Given the description of an element on the screen output the (x, y) to click on. 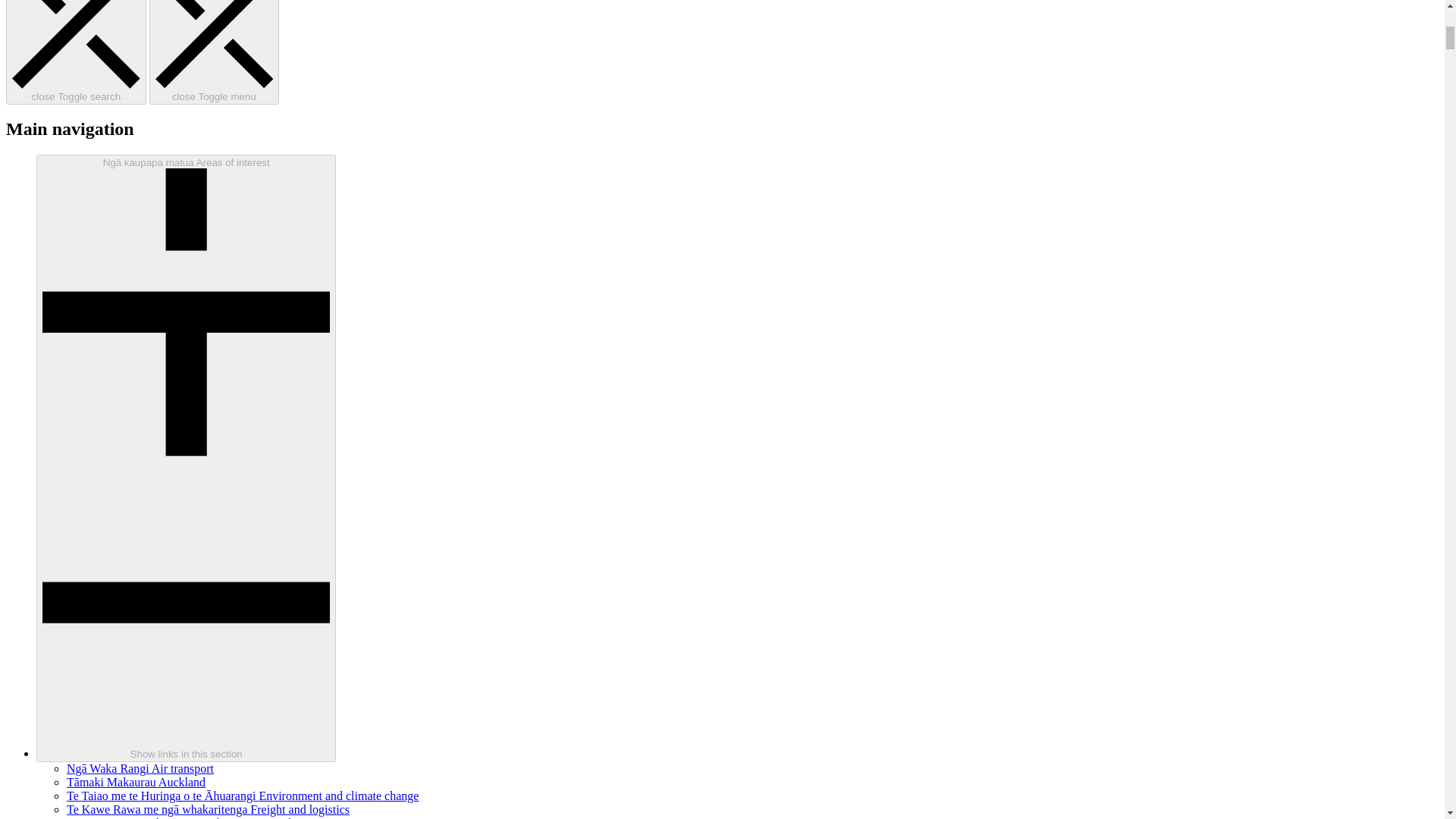
menu close Toggle menu (214, 52)
search close Toggle search (76, 52)
